Given the description of an element on the screen output the (x, y) to click on. 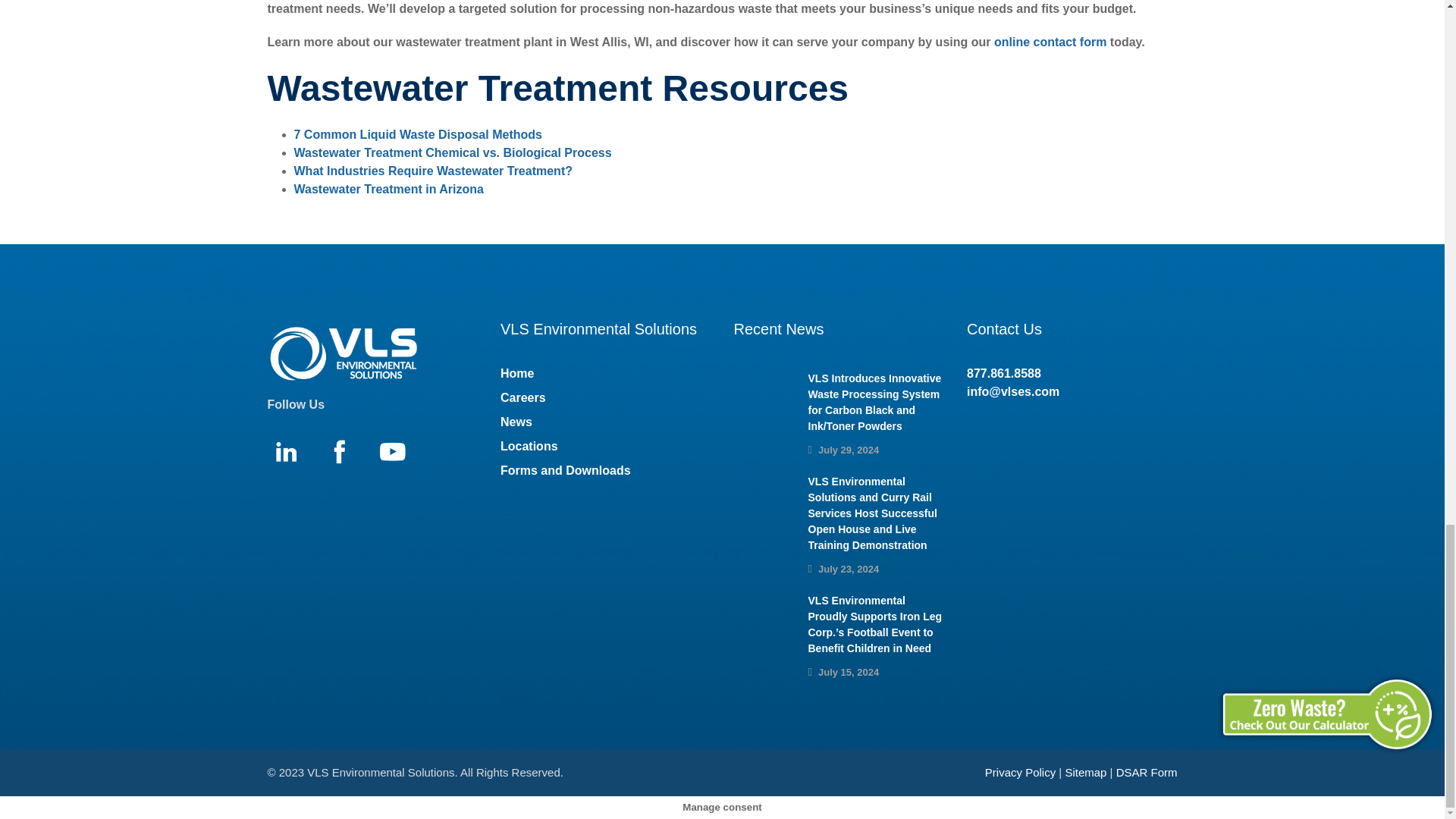
View Homepage (348, 356)
Visit Us On LinkedIn (293, 455)
Visit Us On Facebook (346, 455)
View Us On YouTube (399, 455)
